Given the description of an element on the screen output the (x, y) to click on. 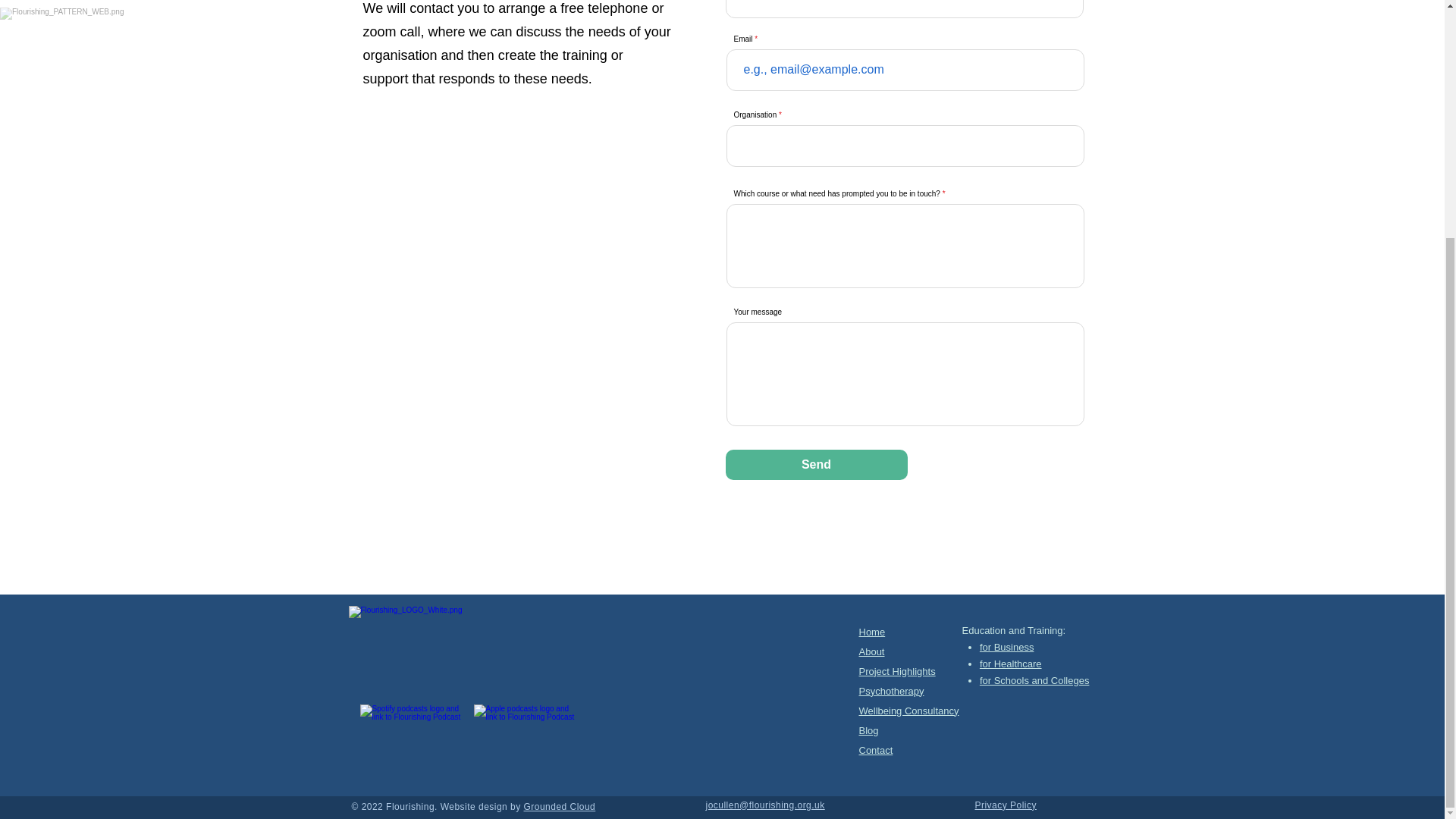
for Business (1006, 646)
for Schools and Colleges (1034, 680)
About (871, 651)
Send (816, 464)
for Healthcare (1010, 663)
Blog (868, 730)
Contact (875, 749)
Project Highlights (896, 671)
Privacy Policy (1005, 805)
Psychotherapy (891, 690)
